Given the description of an element on the screen output the (x, y) to click on. 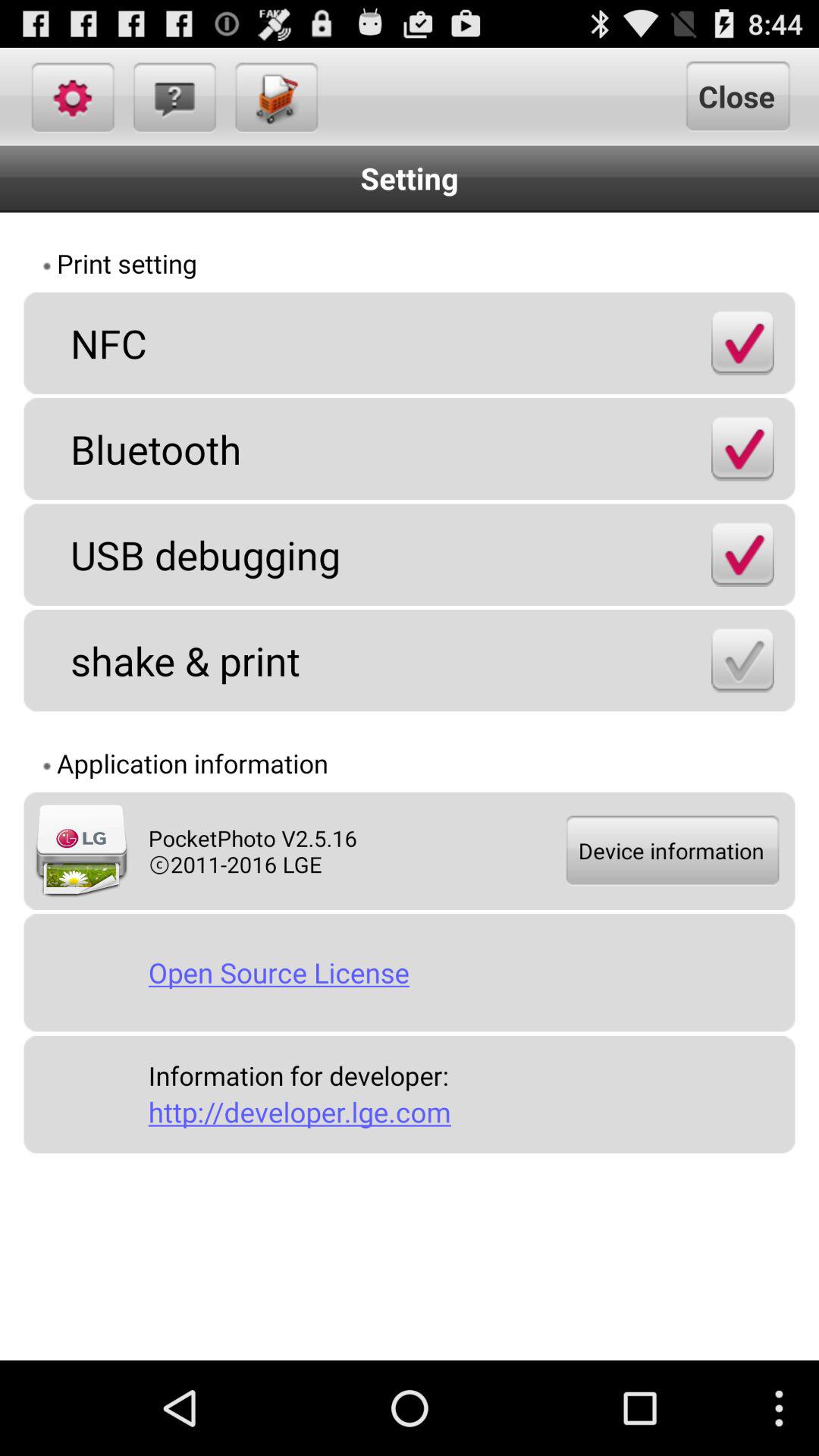
tap the item above the open source license (671, 850)
